Given the description of an element on the screen output the (x, y) to click on. 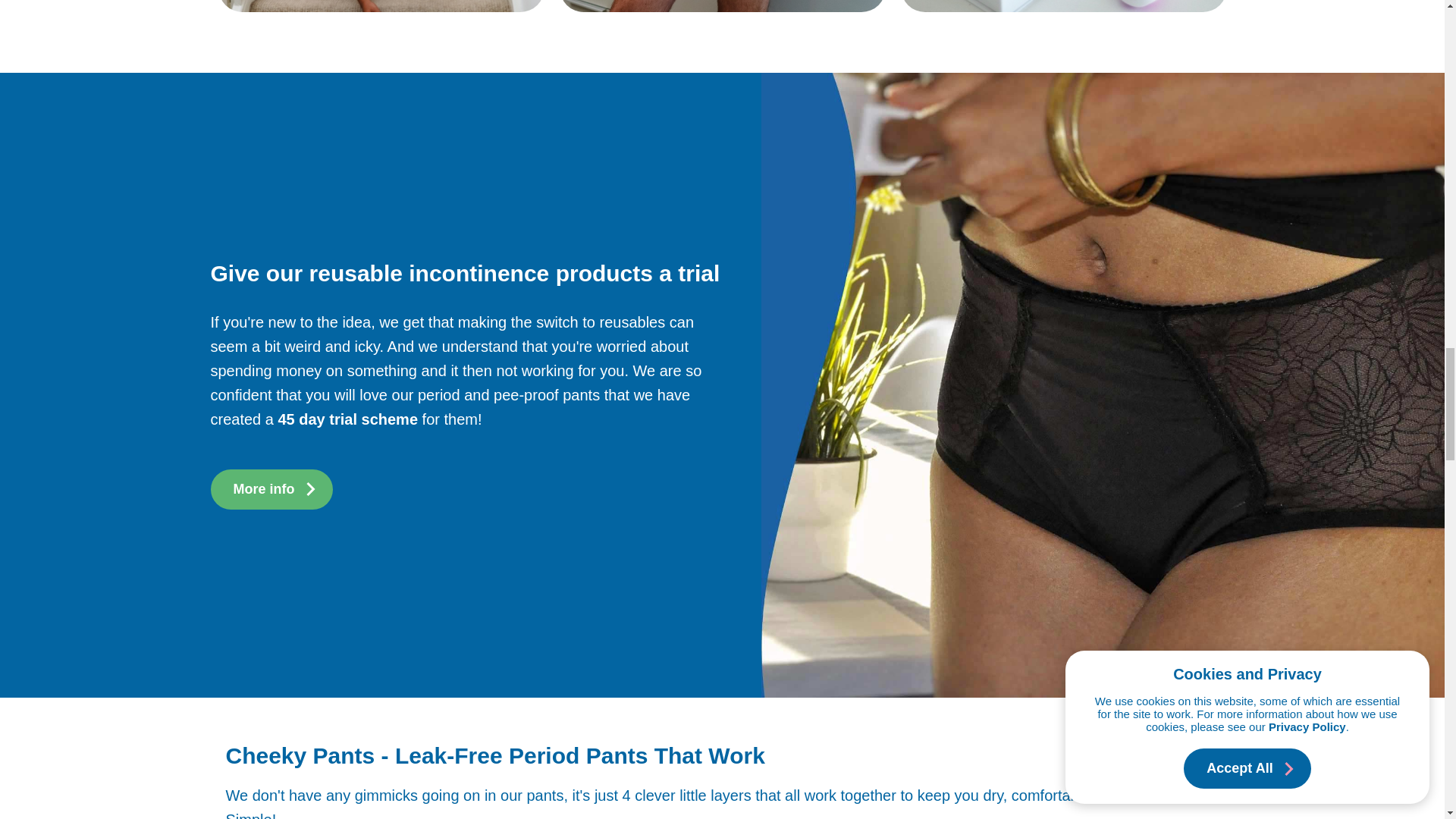
More info (272, 489)
